Given the description of an element on the screen output the (x, y) to click on. 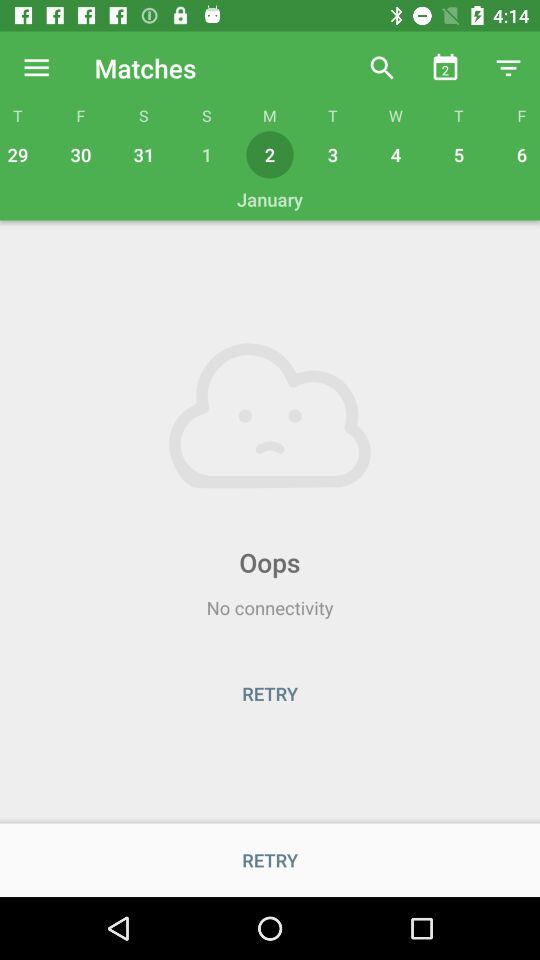
turn off icon to the right of the 4 (458, 154)
